Given the description of an element on the screen output the (x, y) to click on. 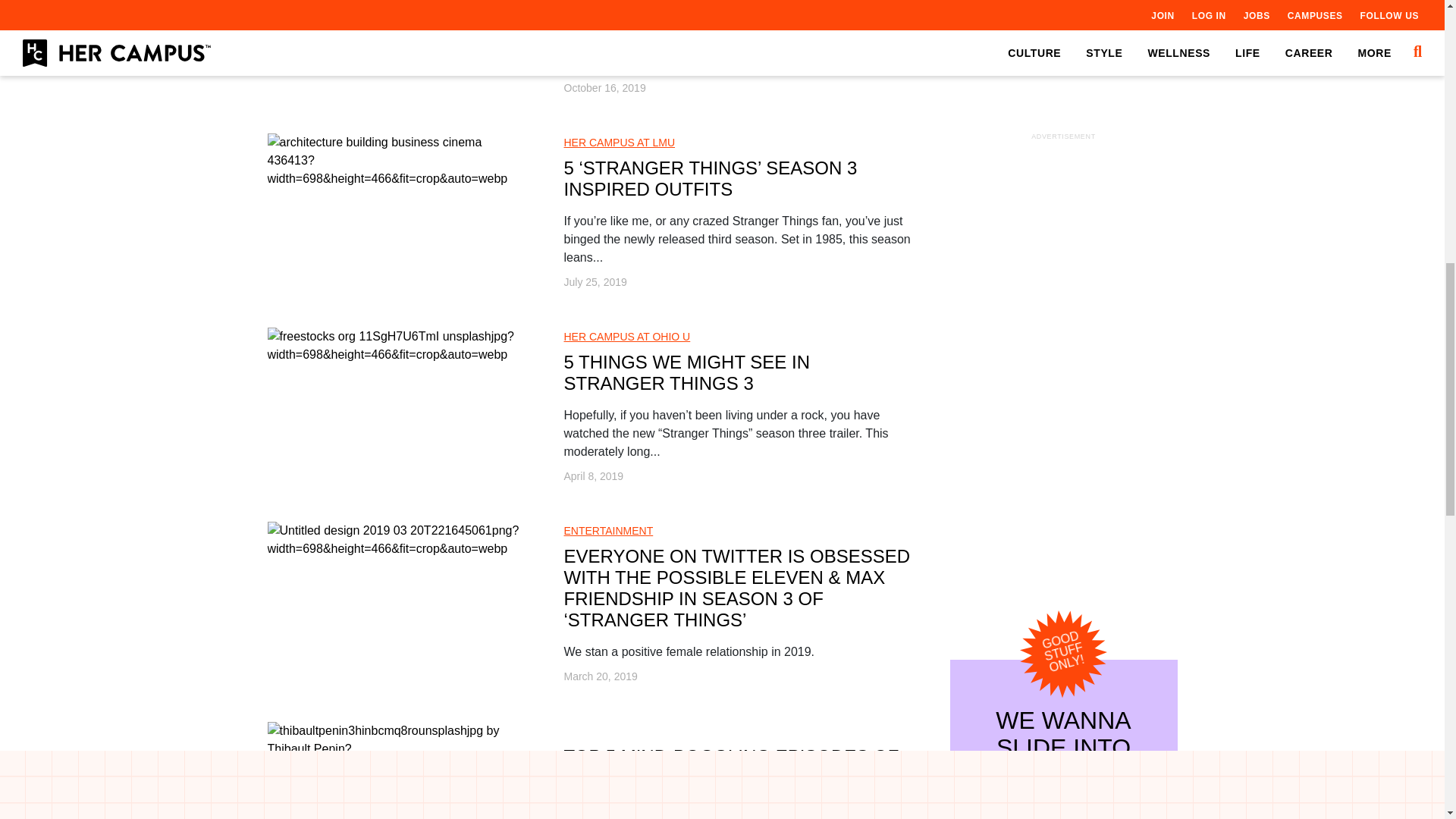
5 Things We Might See In Stranger Things 3 6 (397, 345)
Halloween Costumes Based on Stranger Things 4 (397, 6)
Top 5 Mind-Boggling Episodes of Black Mirror 8 (397, 748)
